Given the description of an element on the screen output the (x, y) to click on. 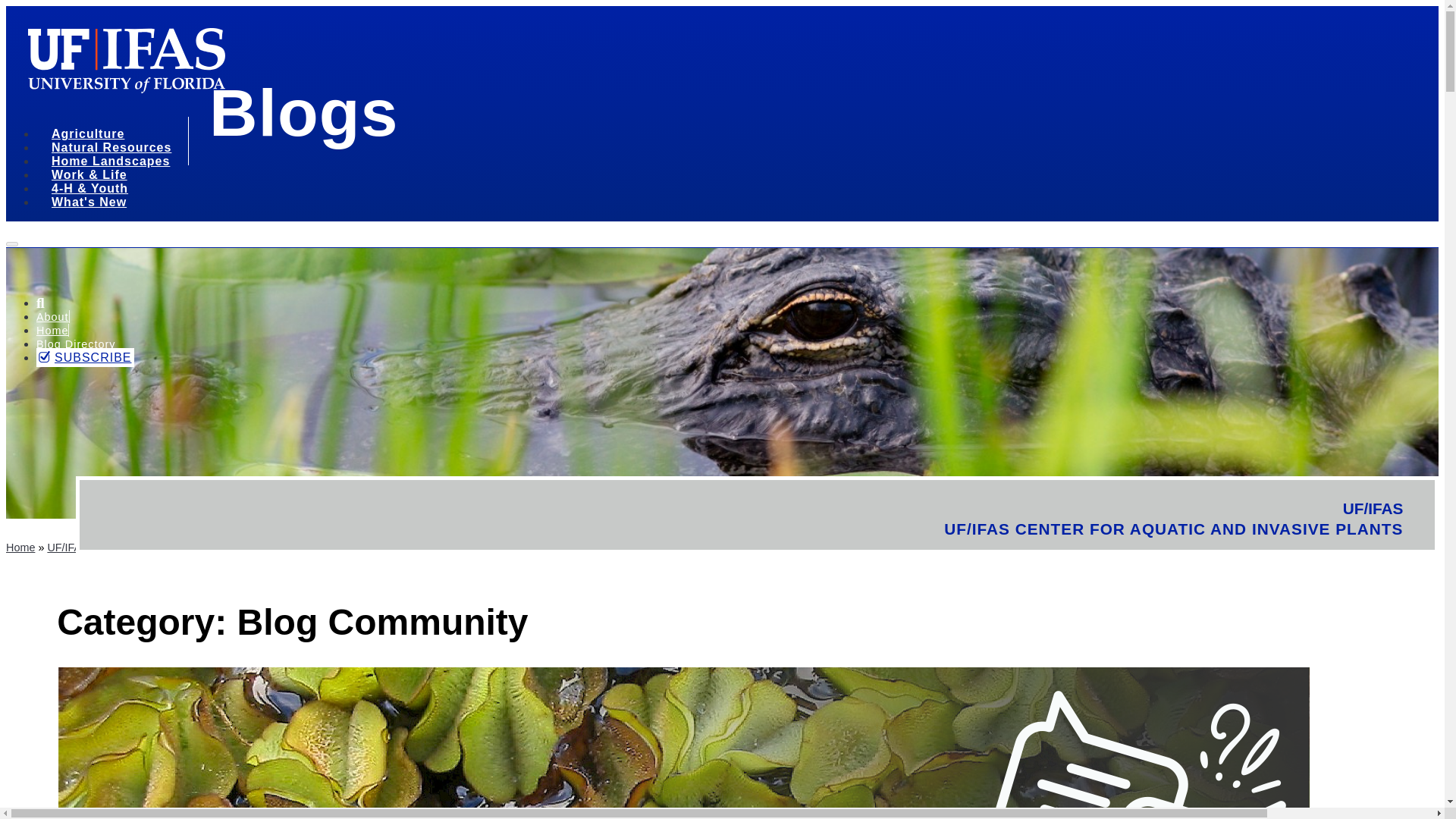
Blog Directory (75, 344)
Home (52, 330)
SUBSCRIBE (84, 357)
Home Landscapes (115, 162)
Blogs (303, 112)
Agriculture (92, 135)
Natural Resources (116, 149)
About (52, 316)
